Given the description of an element on the screen output the (x, y) to click on. 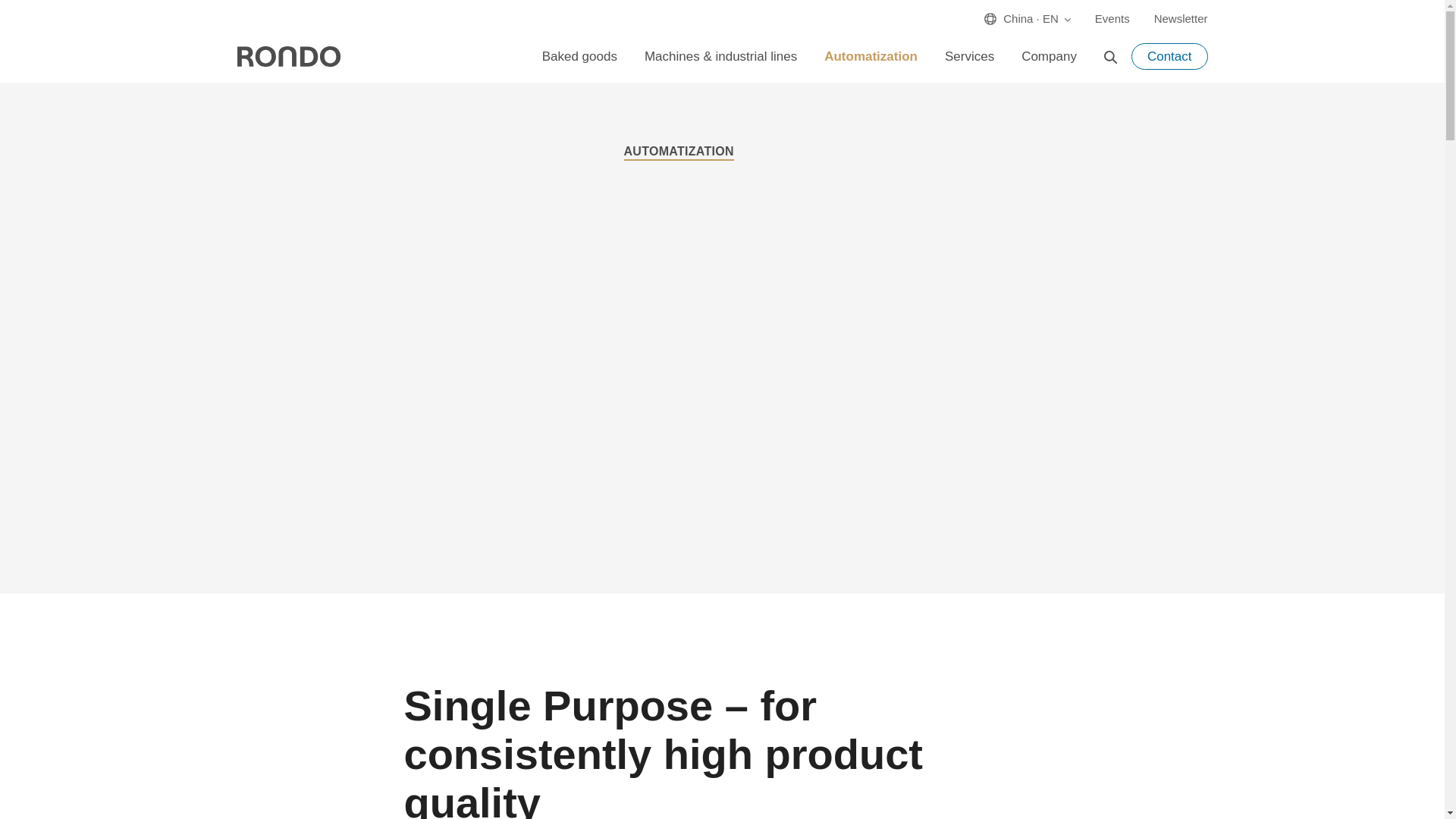
Contact (1169, 56)
Company (1048, 56)
Newsletter (1174, 15)
Services (969, 56)
Baked goods (579, 56)
Events (1112, 15)
Automatization (870, 56)
